Given the description of an element on the screen output the (x, y) to click on. 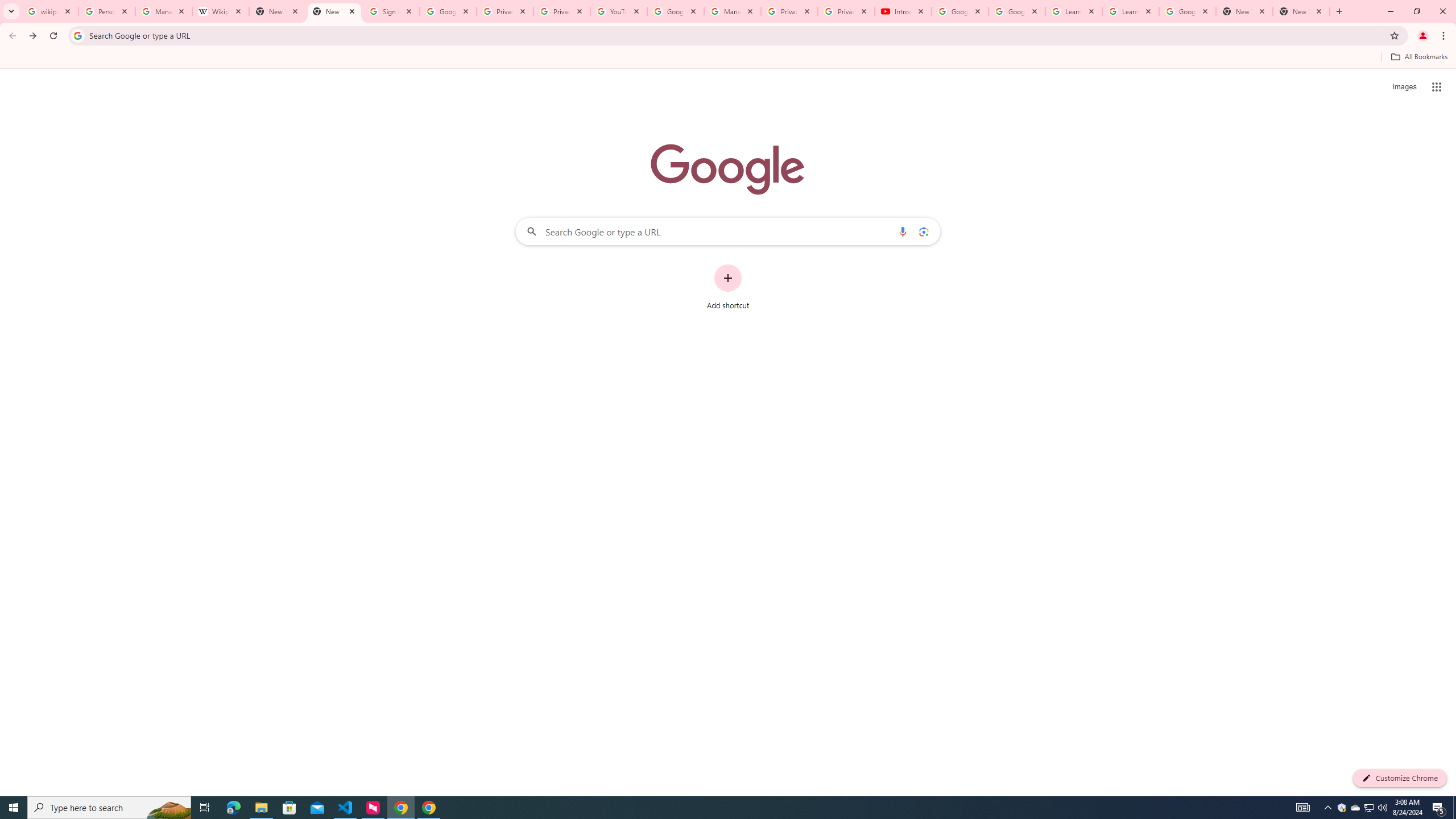
Add shortcut (727, 287)
All Bookmarks (1418, 56)
New Tab (1301, 11)
Search by image (922, 230)
Manage your Location History - Google Search Help (163, 11)
Introduction | Google Privacy Policy - YouTube (902, 11)
Search for Images  (1403, 87)
Google Account (1187, 11)
Search by voice (902, 230)
